Given the description of an element on the screen output the (x, y) to click on. 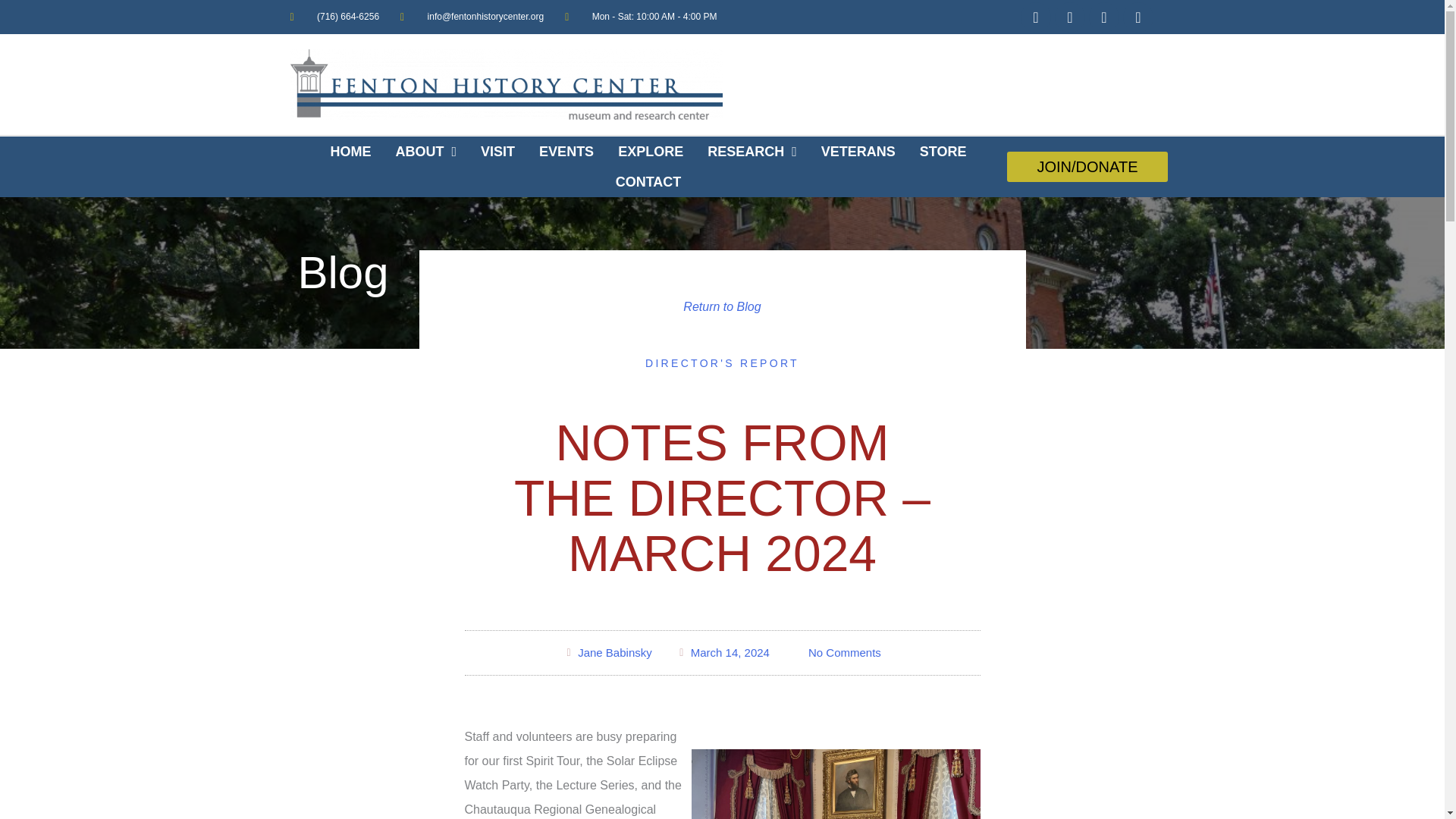
EXPLORE (650, 151)
Youtube (1137, 16)
VISIT (497, 151)
VETERANS (858, 151)
STORE (942, 151)
HOME (351, 151)
CONTACT (649, 182)
RESEARCH (752, 151)
Facebook (1035, 16)
ABOUT (426, 151)
